Given the description of an element on the screen output the (x, y) to click on. 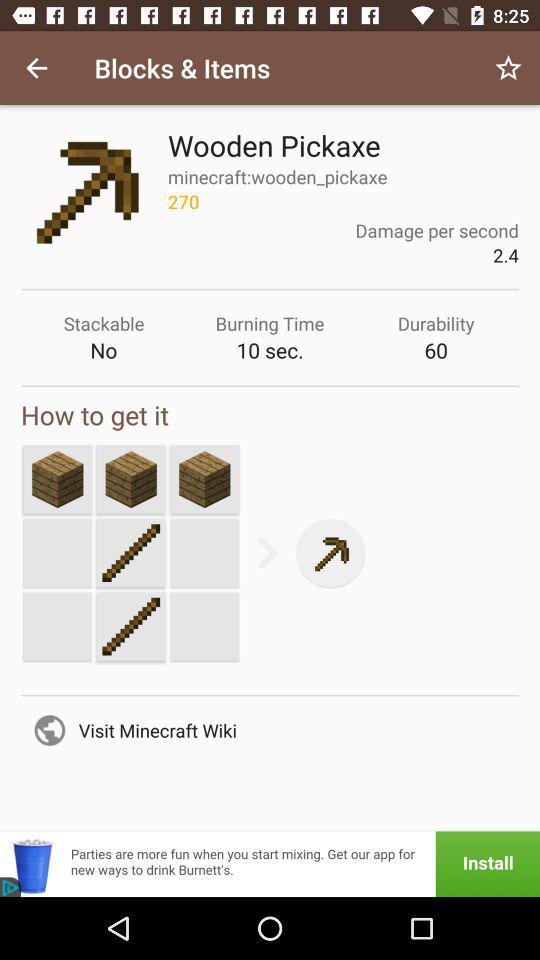
install app (270, 864)
